Given the description of an element on the screen output the (x, y) to click on. 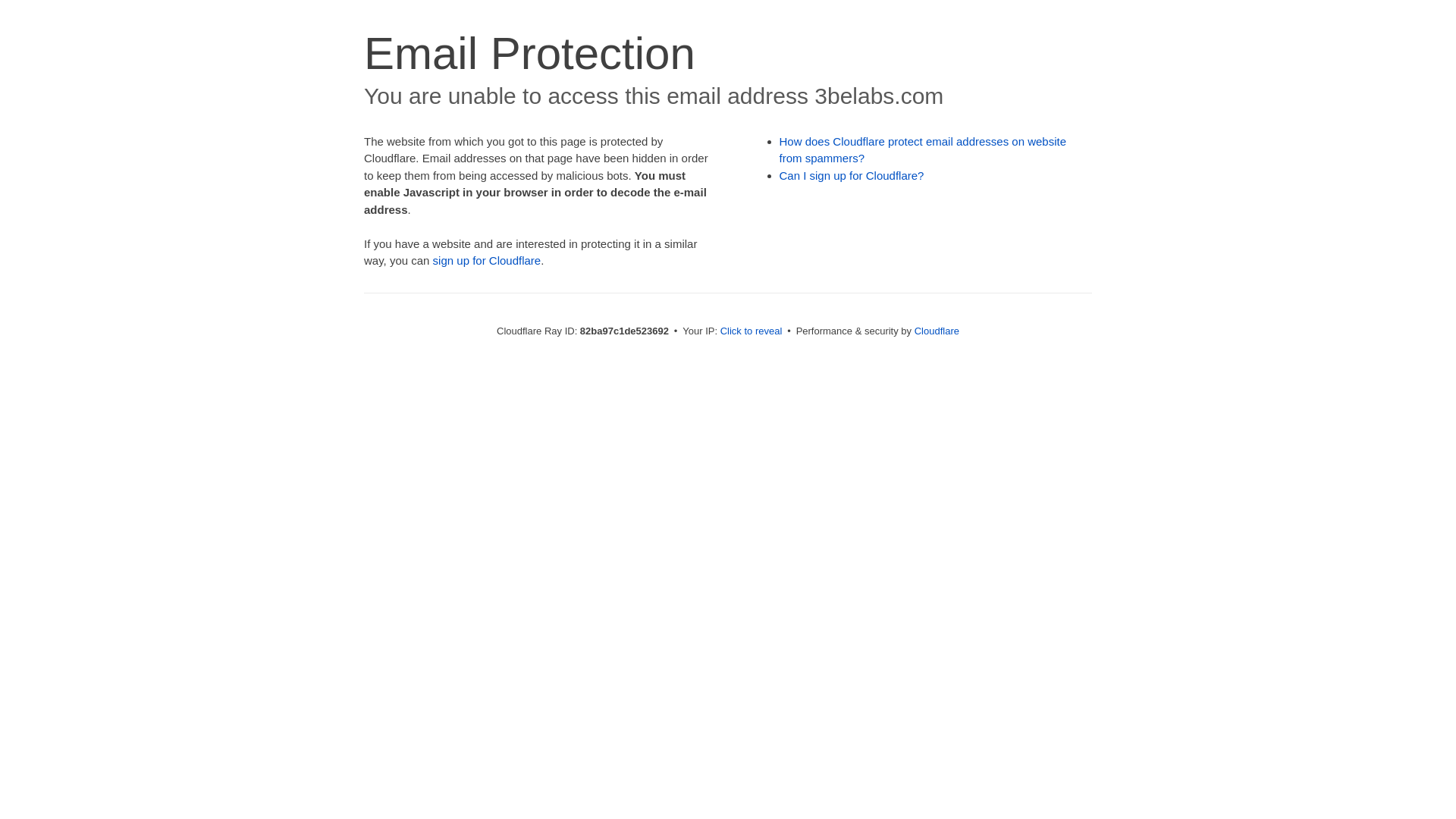
sign up for Cloudflare Element type: text (487, 260)
Cloudflare Element type: text (936, 330)
Click to reveal Element type: text (751, 330)
Can I sign up for Cloudflare? Element type: text (851, 175)
